Given the description of an element on the screen output the (x, y) to click on. 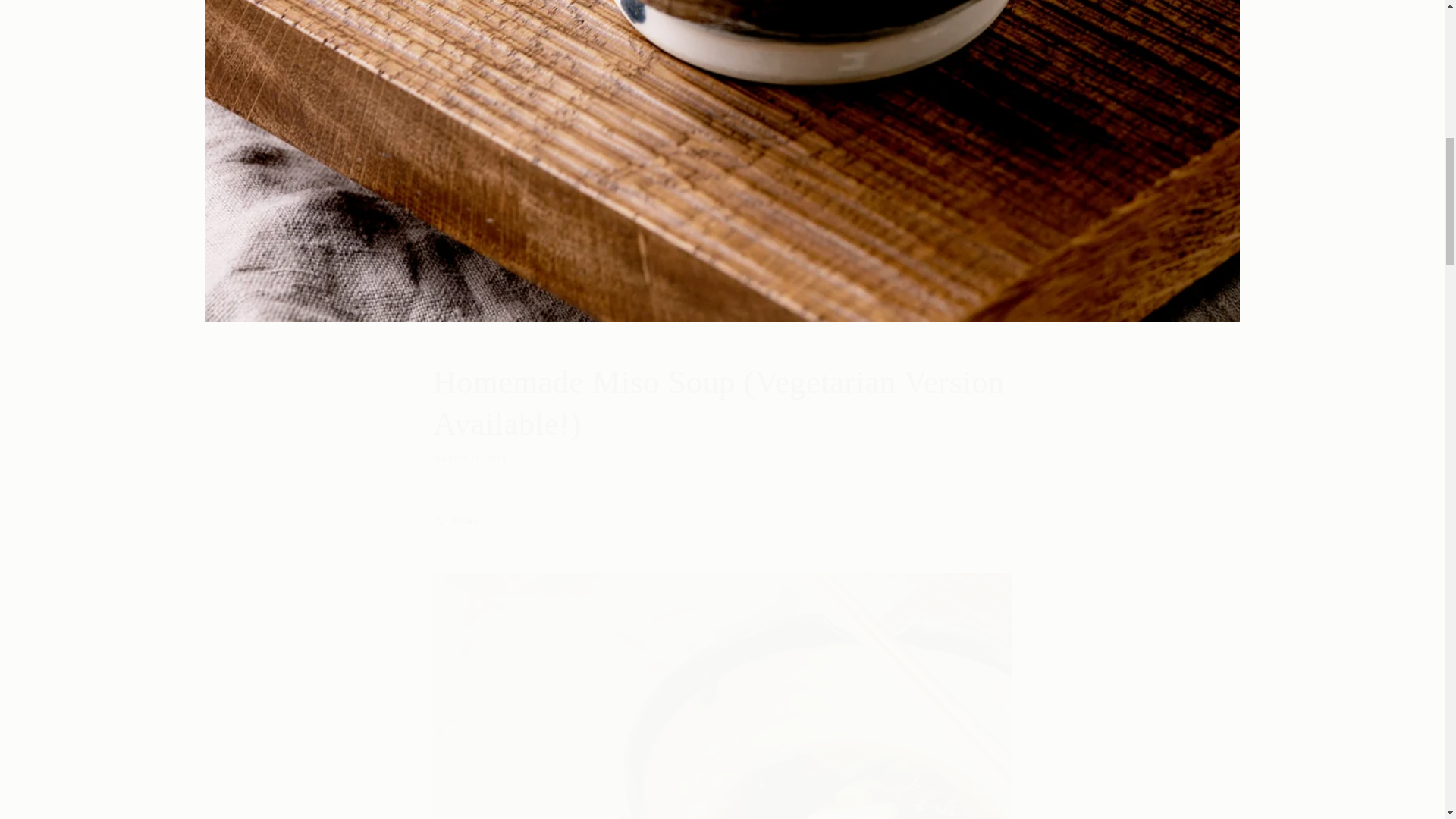
Share (721, 520)
